Given the description of an element on the screen output the (x, y) to click on. 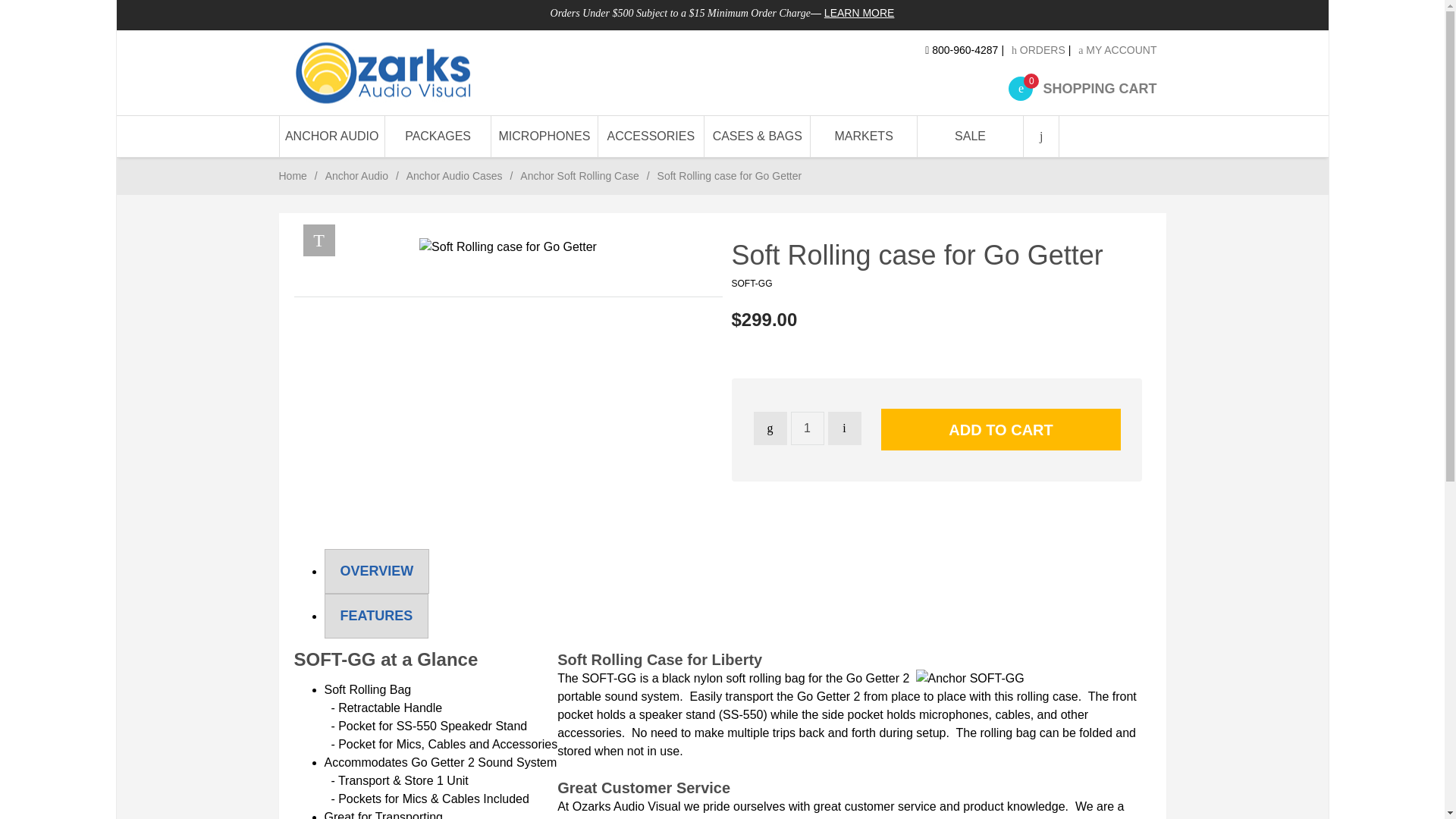
1 (807, 428)
Anchor Audio Cases (454, 175)
ozarksav.com (427, 72)
Welcome to Ozarks Audio Visual (1082, 87)
Add to Cart (382, 72)
Soft Rolling case for Go Getter (1000, 429)
LEARN MORE (507, 247)
ANCHOR AUDIO (859, 12)
Home (332, 136)
Anchor Audio (293, 175)
MY ACCOUNT (356, 175)
ORDERS (1117, 50)
PACKAGES (1038, 50)
Anchor Soft Rolling Case (438, 136)
